Given the description of an element on the screen output the (x, y) to click on. 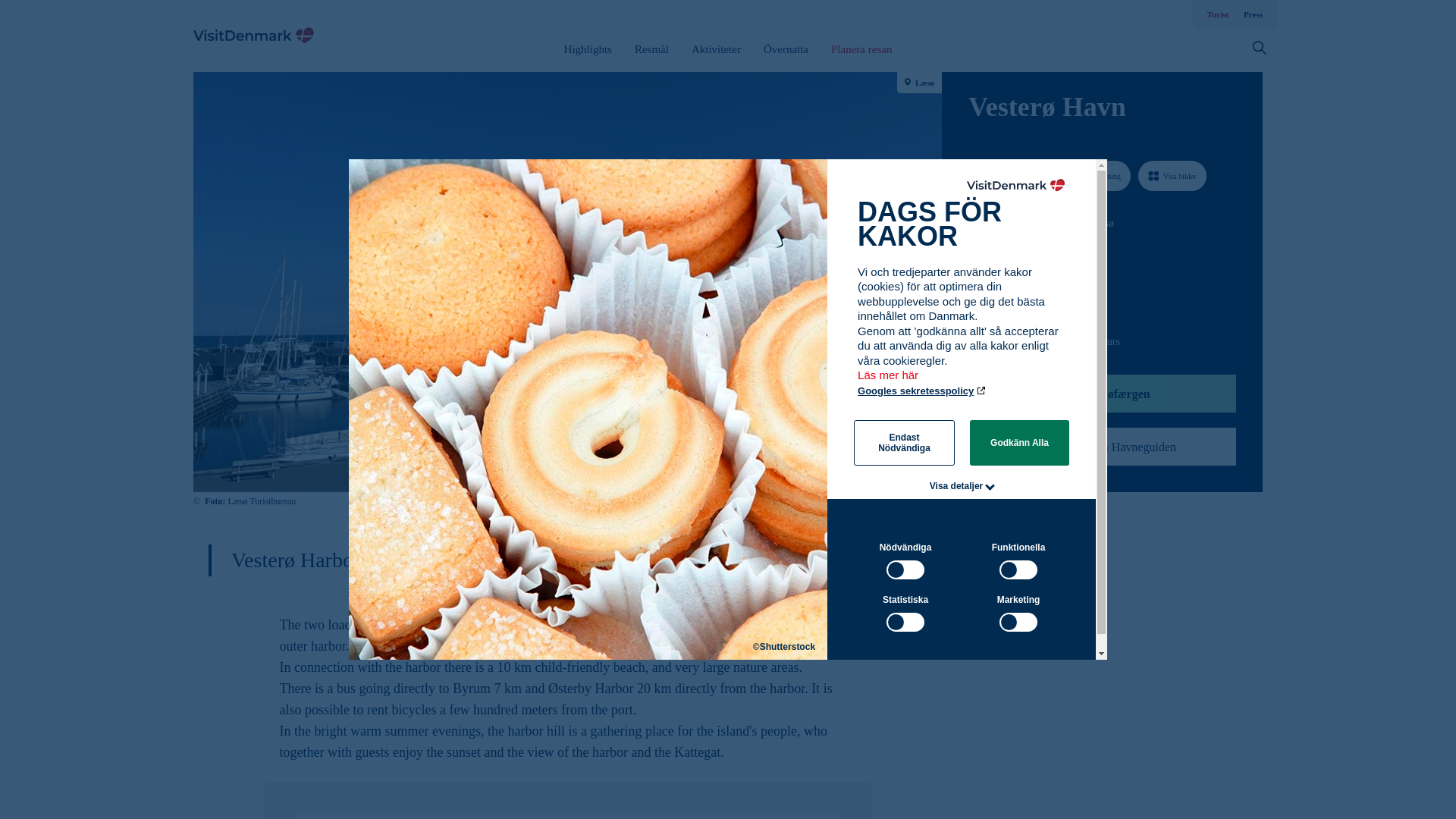
Visa detaljer (957, 485)
Path (973, 310)
Googles sekretesspolicy (922, 390)
Path (973, 250)
